Given the description of an element on the screen output the (x, y) to click on. 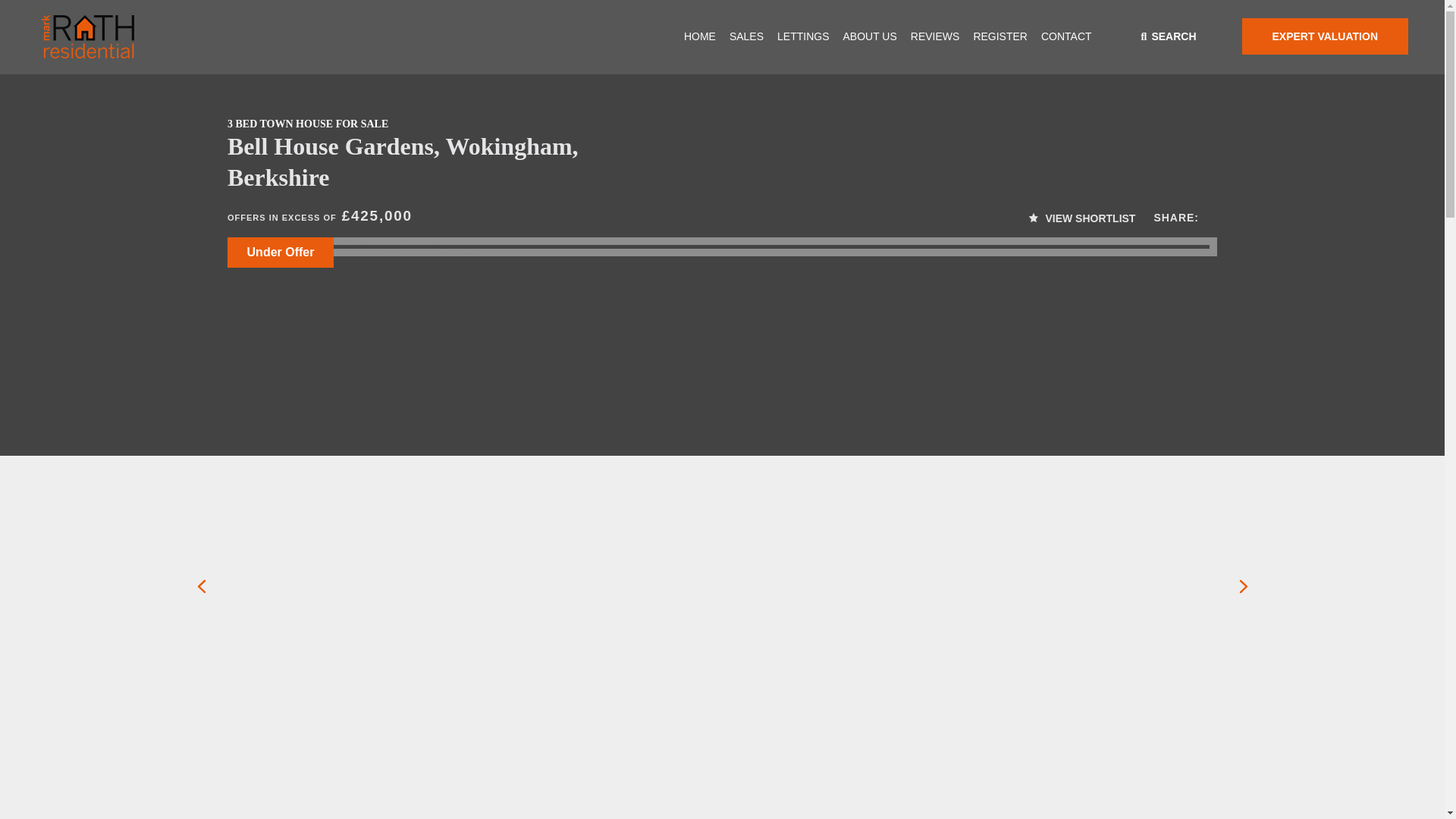
HOME (699, 36)
CONTACT (1066, 36)
EXPERT VALUATION (1325, 36)
ABOUT US (868, 36)
REVIEWS (935, 36)
VIEW SHORTLIST (1082, 218)
SALES (746, 36)
SEARCH (1168, 36)
REGISTER (999, 36)
LETTINGS (802, 36)
